Given the description of an element on the screen output the (x, y) to click on. 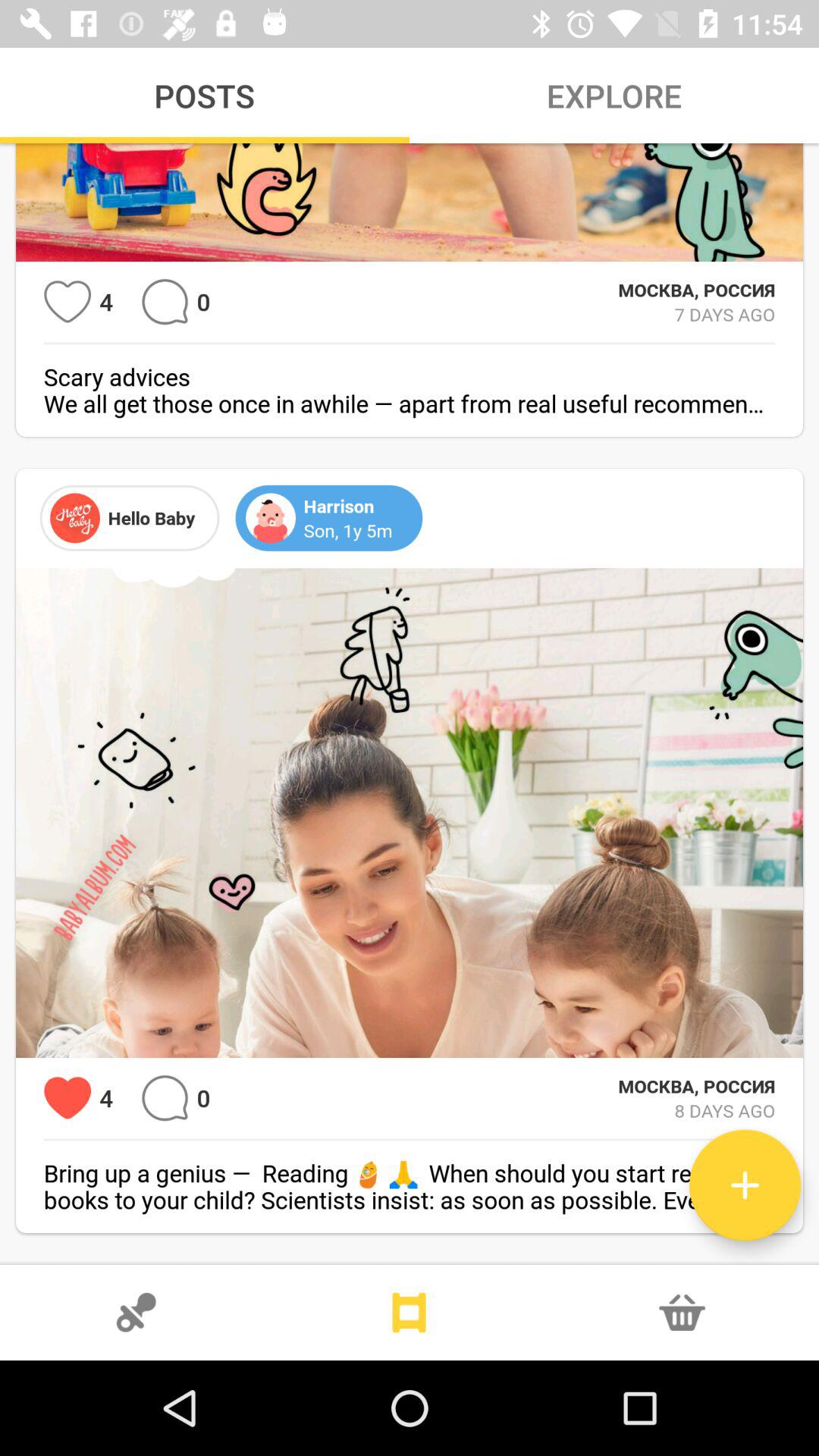
like button (67, 1098)
